Given the description of an element on the screen output the (x, y) to click on. 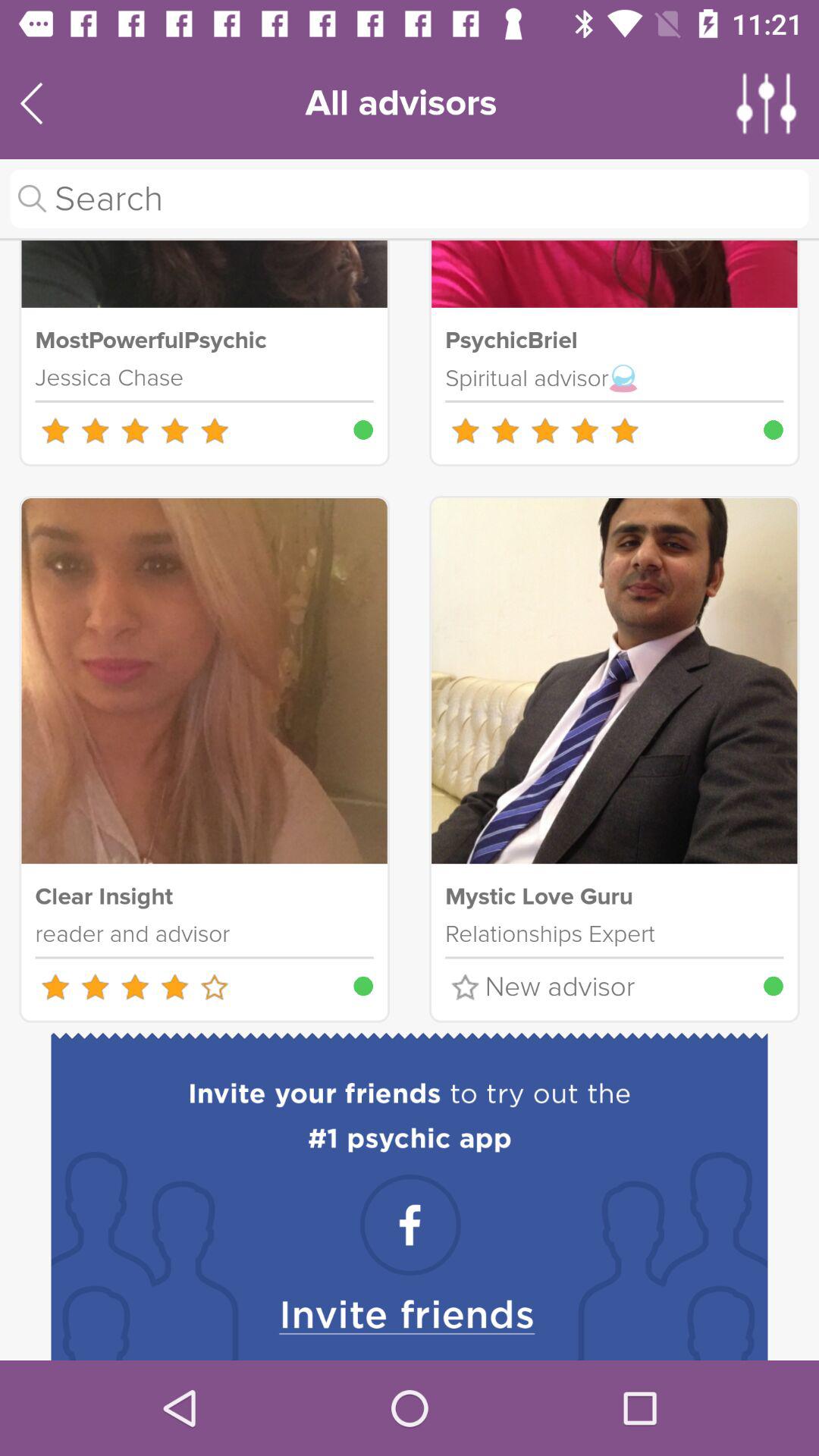
select search (409, 198)
